Given the description of an element on the screen output the (x, y) to click on. 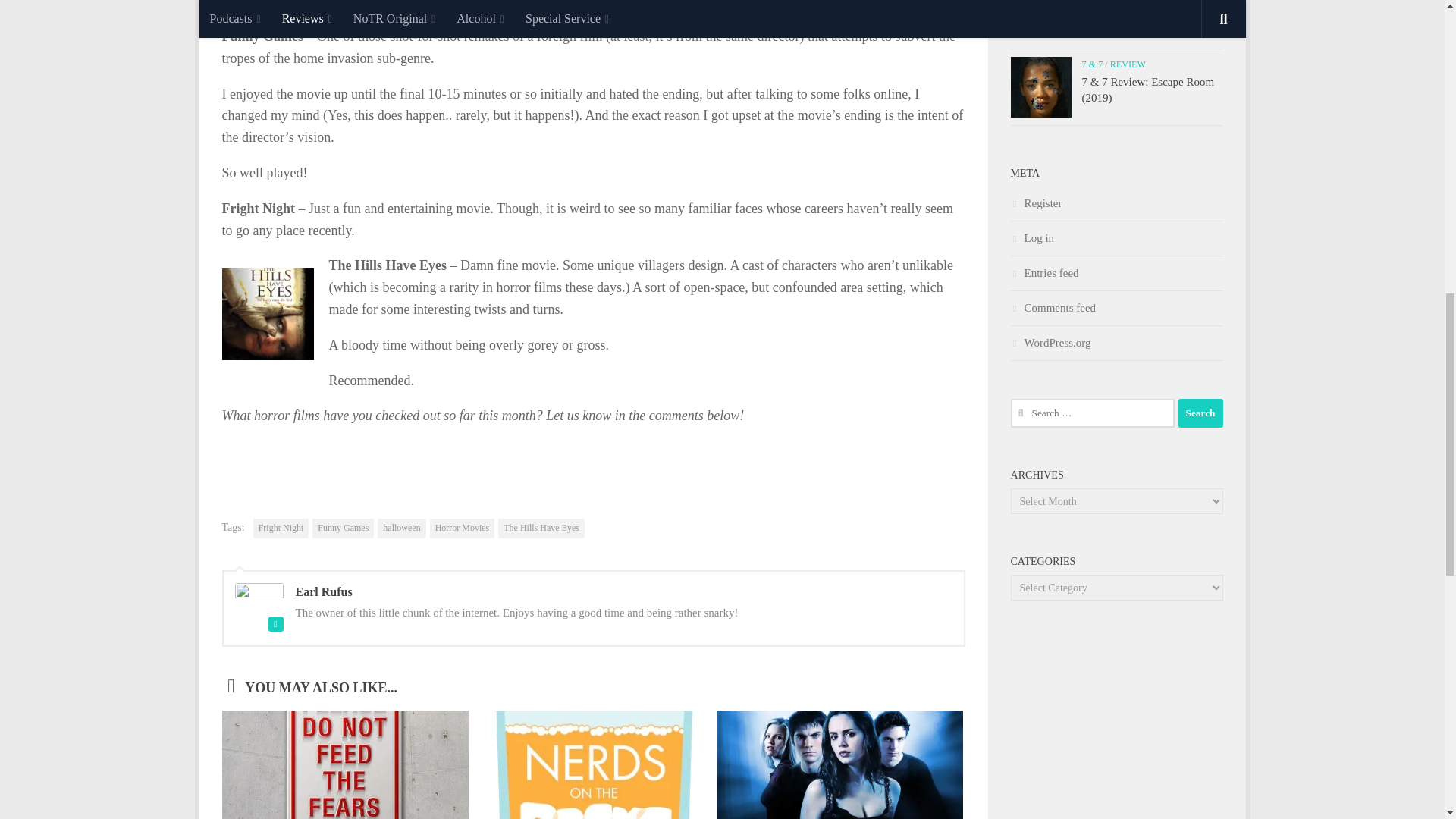
Search (1200, 412)
Search (1200, 412)
